Given the description of an element on the screen output the (x, y) to click on. 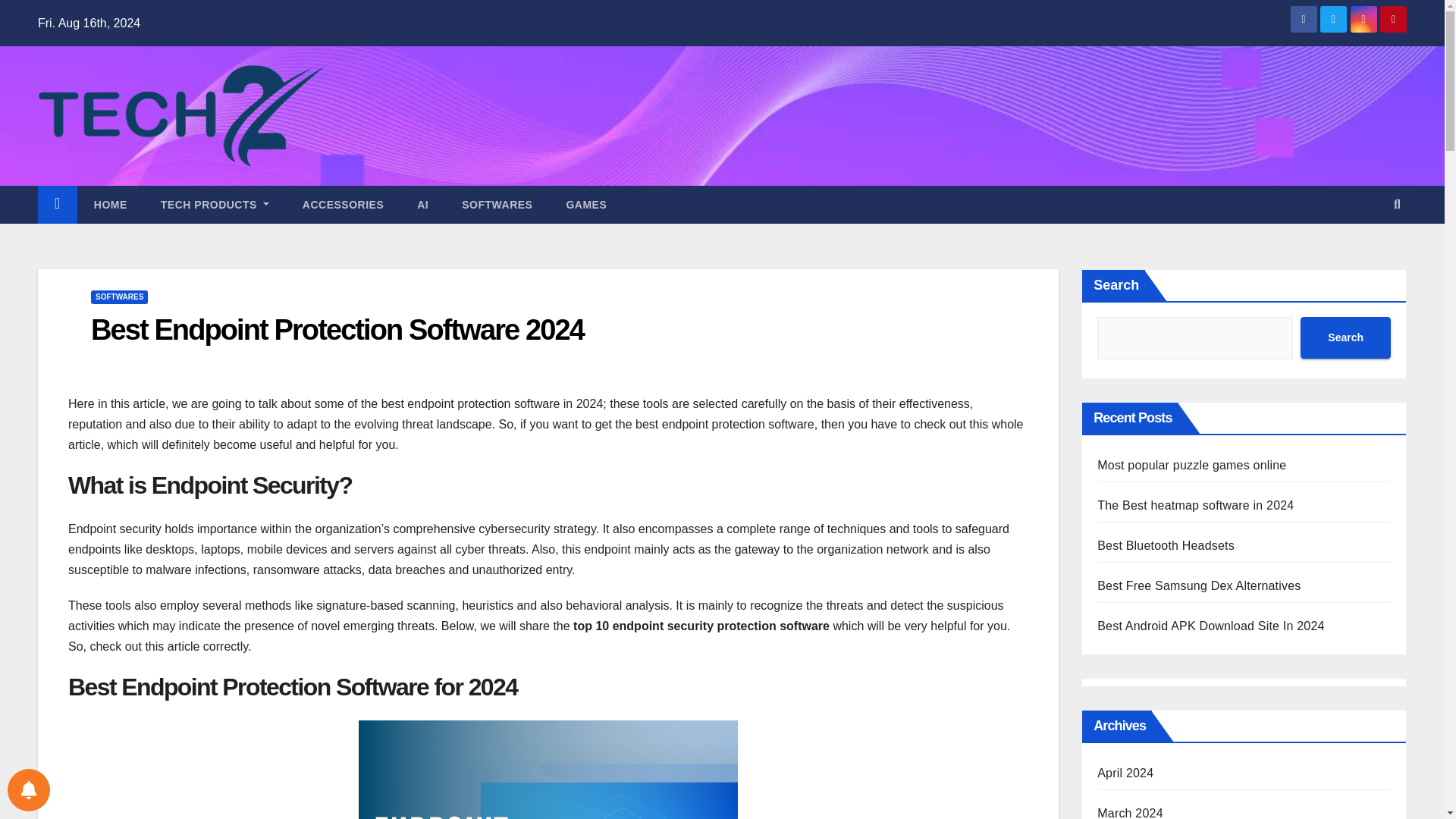
Best Endpoint Protection Software 2024 1 (548, 769)
Accessories (342, 204)
Softwares (496, 204)
HOME (110, 204)
SOFTWARES (119, 296)
Ai (422, 204)
Home (110, 204)
TECH PRODUCTS (214, 204)
ACCESSORIES (342, 204)
Permalink to: Best Endpoint Protection Software 2024 (336, 329)
